Given the description of an element on the screen output the (x, y) to click on. 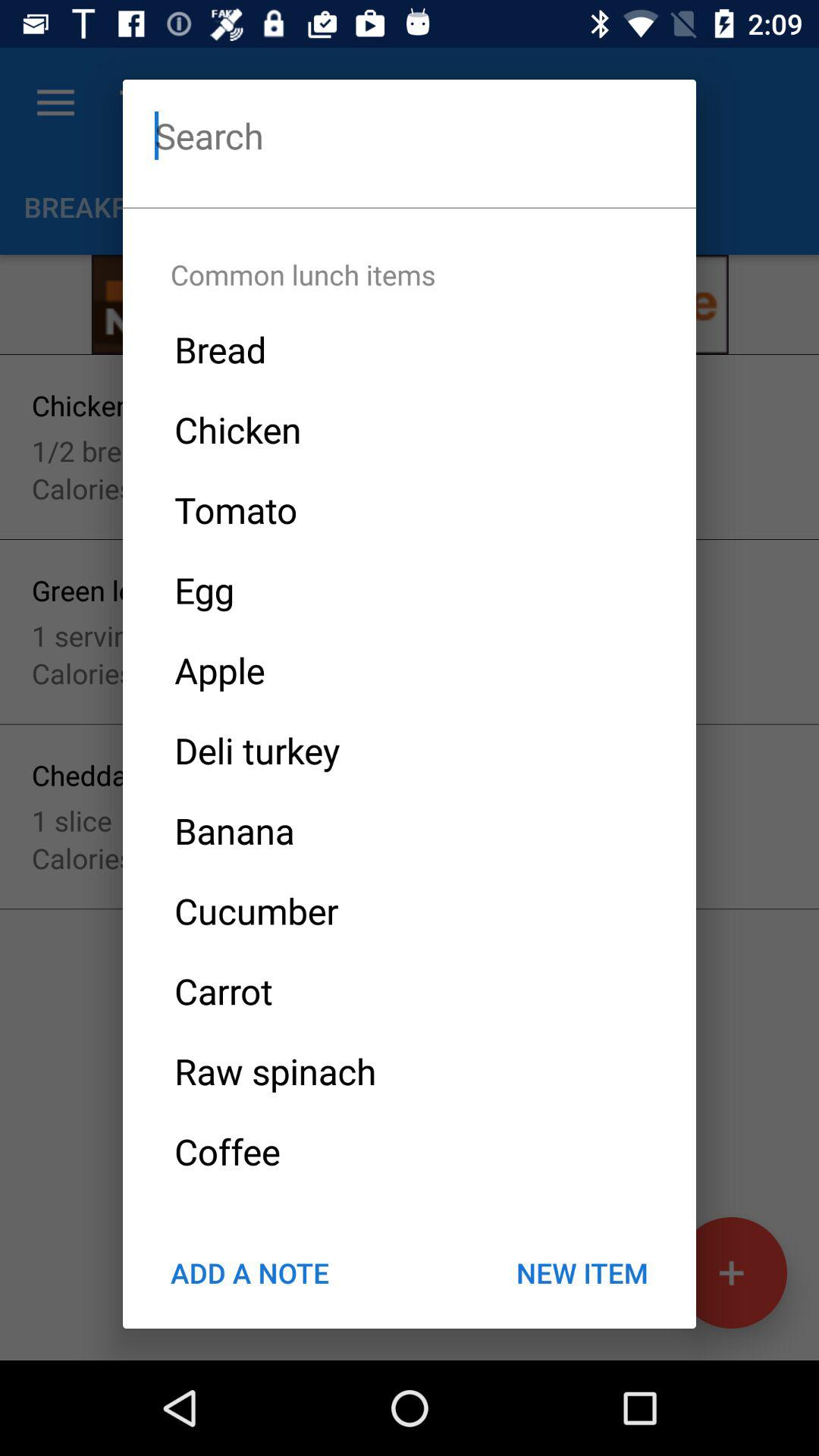
select the icon next to the add a note item (582, 1272)
